Given the description of an element on the screen output the (x, y) to click on. 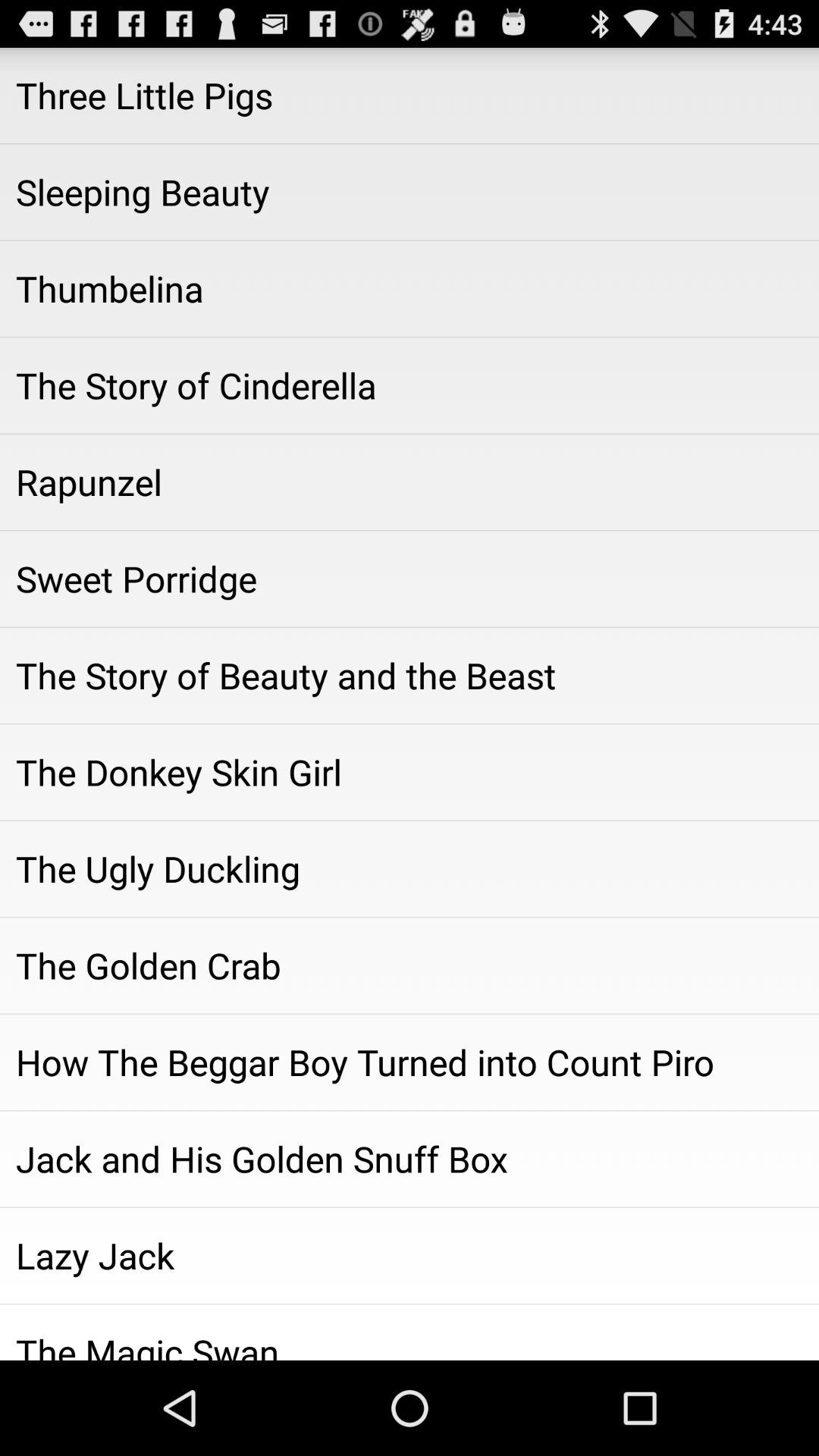
select item above the the story of icon (409, 288)
